Given the description of an element on the screen output the (x, y) to click on. 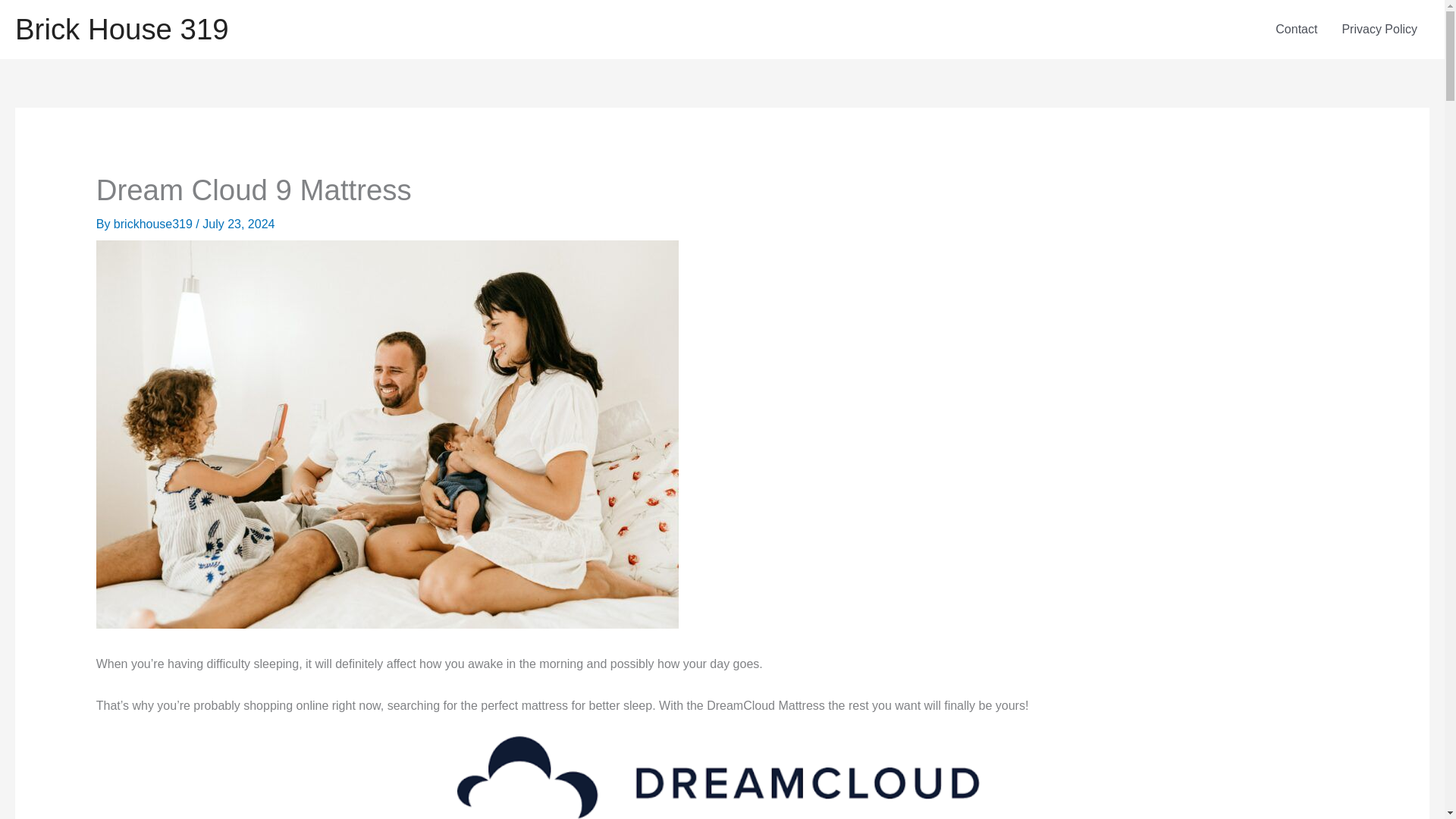
brickhouse319 (154, 223)
View all posts by brickhouse319 (154, 223)
Privacy Policy (1379, 29)
Brick House 319 (121, 29)
Contact (1296, 29)
